Given the description of an element on the screen output the (x, y) to click on. 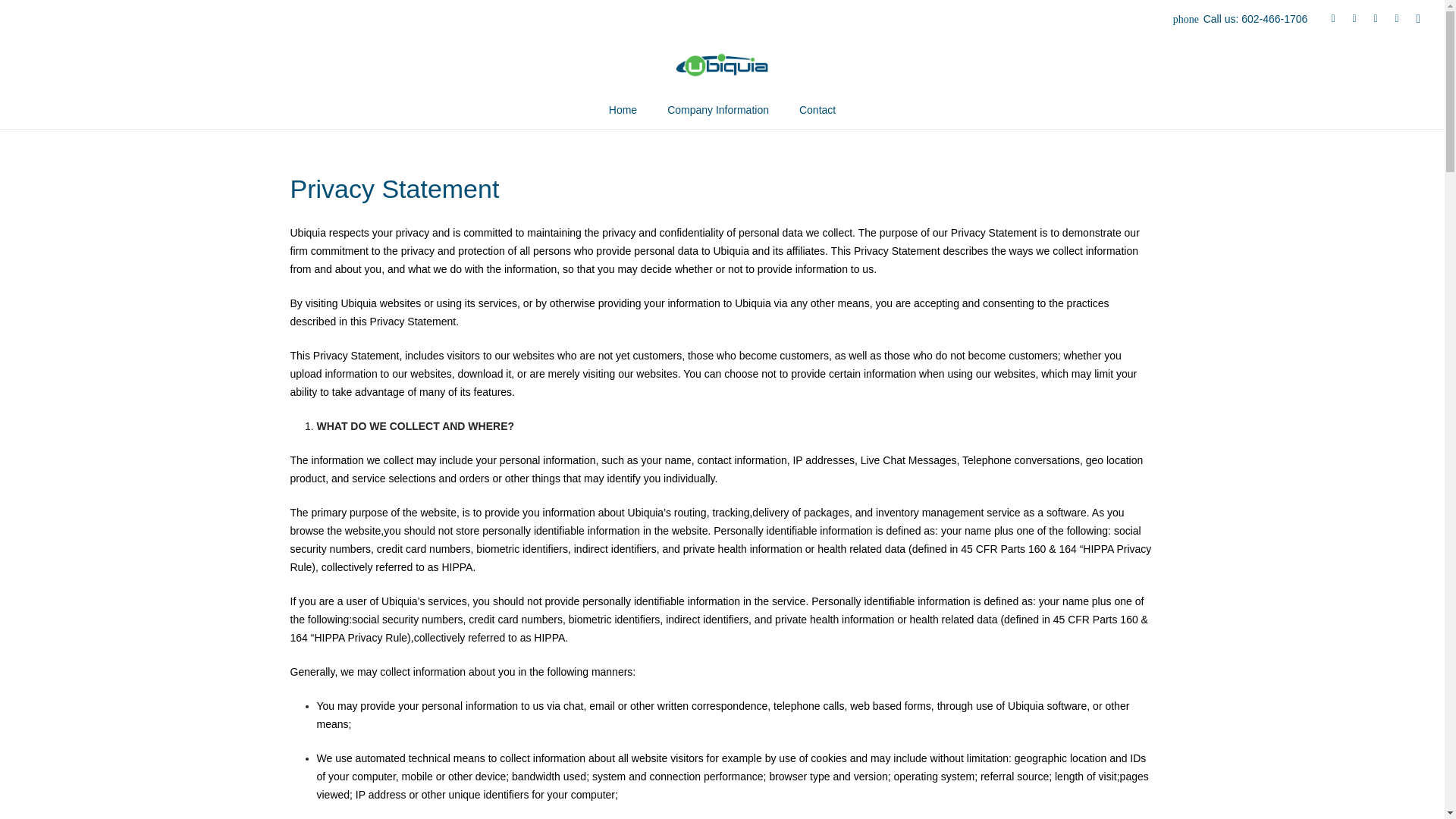
Twitter (1354, 18)
YouTube (1396, 18)
Instagram (1417, 18)
LinkedIn (1375, 18)
Contact (817, 109)
Facebook (1332, 18)
Home (623, 109)
Company Information (718, 109)
